Given the description of an element on the screen output the (x, y) to click on. 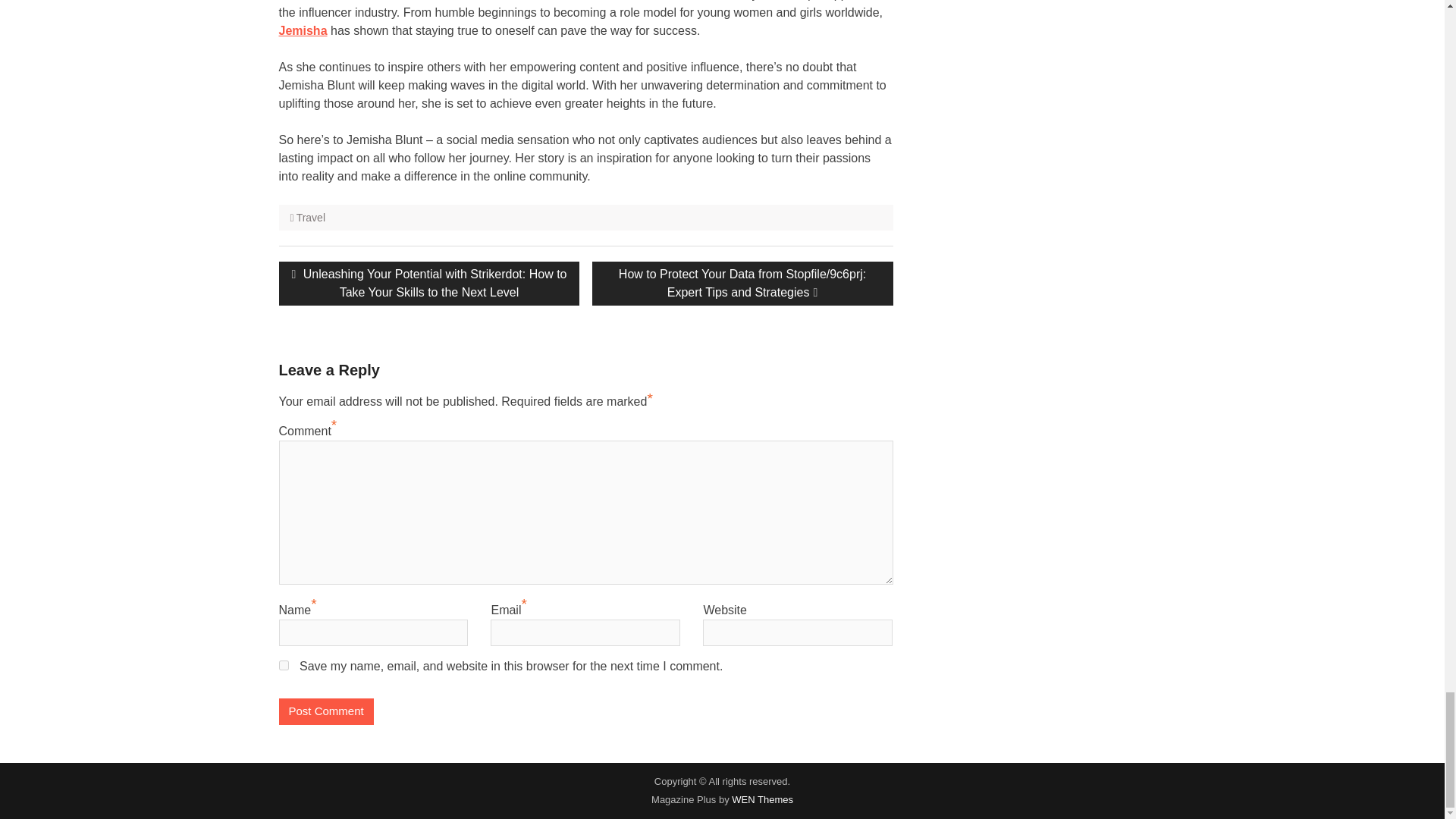
Post Comment (326, 711)
Post Comment (326, 711)
Jemisha (303, 30)
yes (283, 665)
Travel (310, 217)
